Given the description of an element on the screen output the (x, y) to click on. 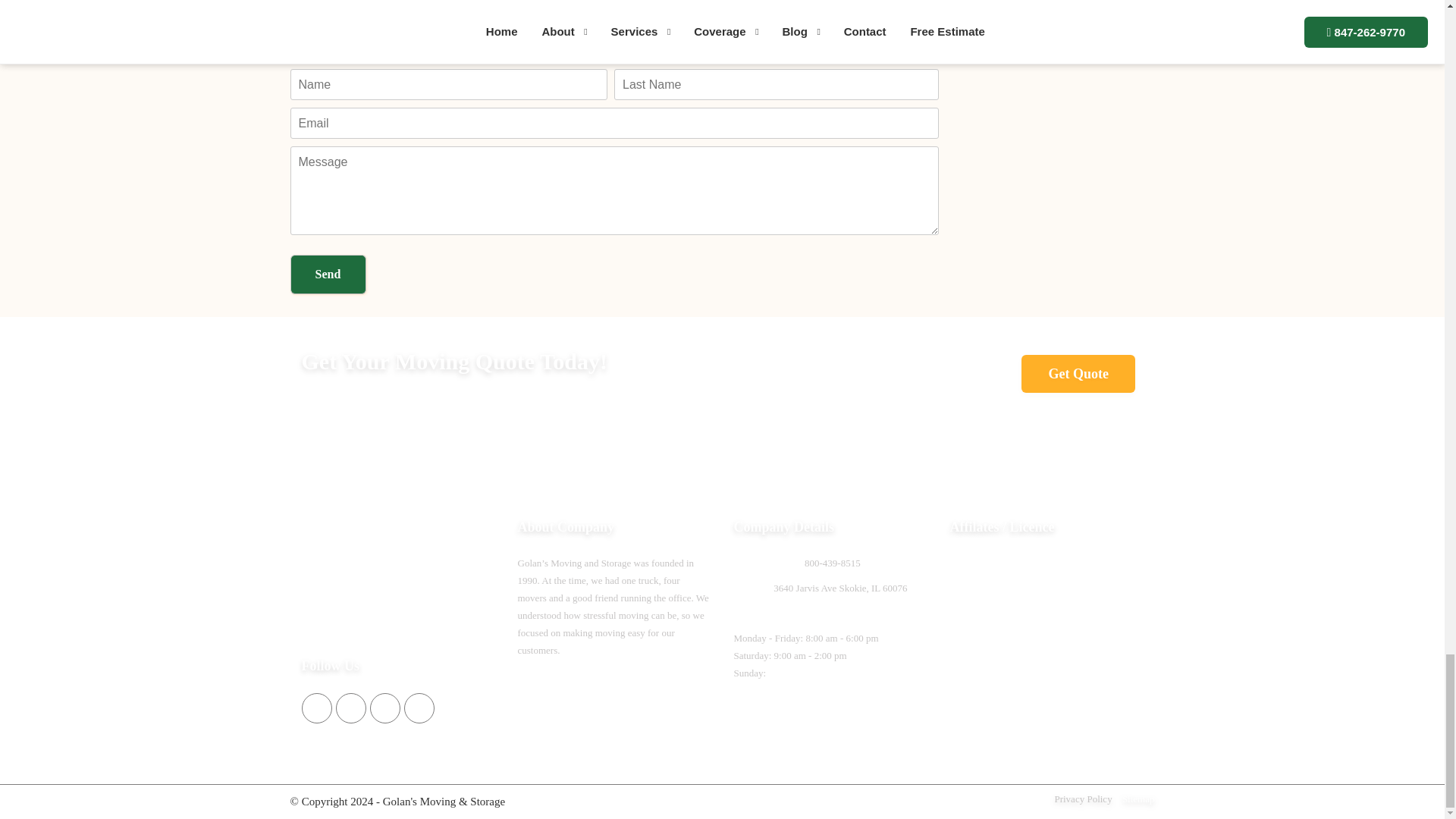
Send (327, 274)
